Given the description of an element on the screen output the (x, y) to click on. 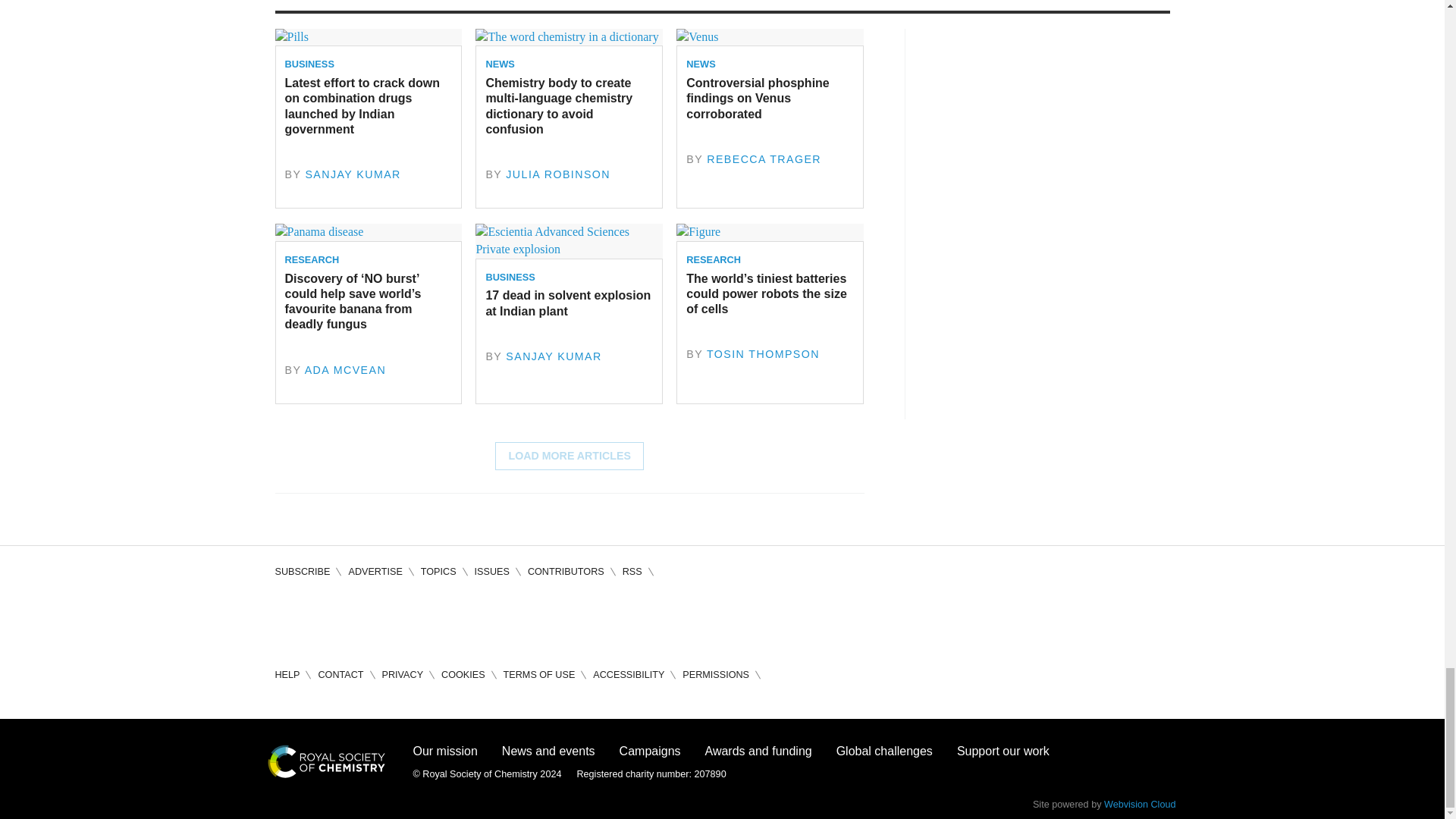
Follow on Facebook (287, 619)
Watch on Vimeo (416, 619)
Follow on Twitter (330, 619)
Connect on Linked in (373, 619)
